Given the description of an element on the screen output the (x, y) to click on. 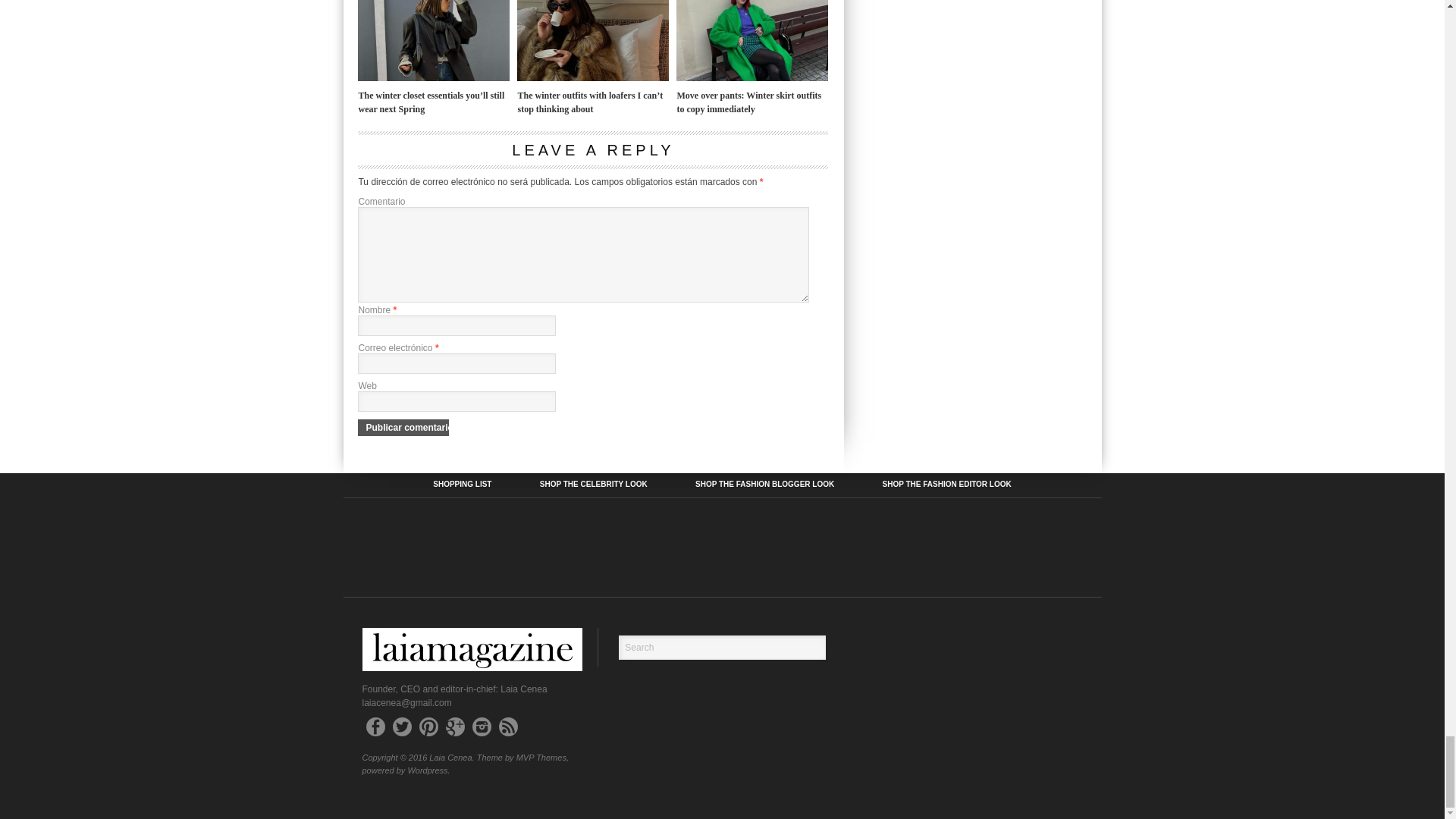
Publicar comentario (403, 427)
Search (721, 647)
